Given the description of an element on the screen output the (x, y) to click on. 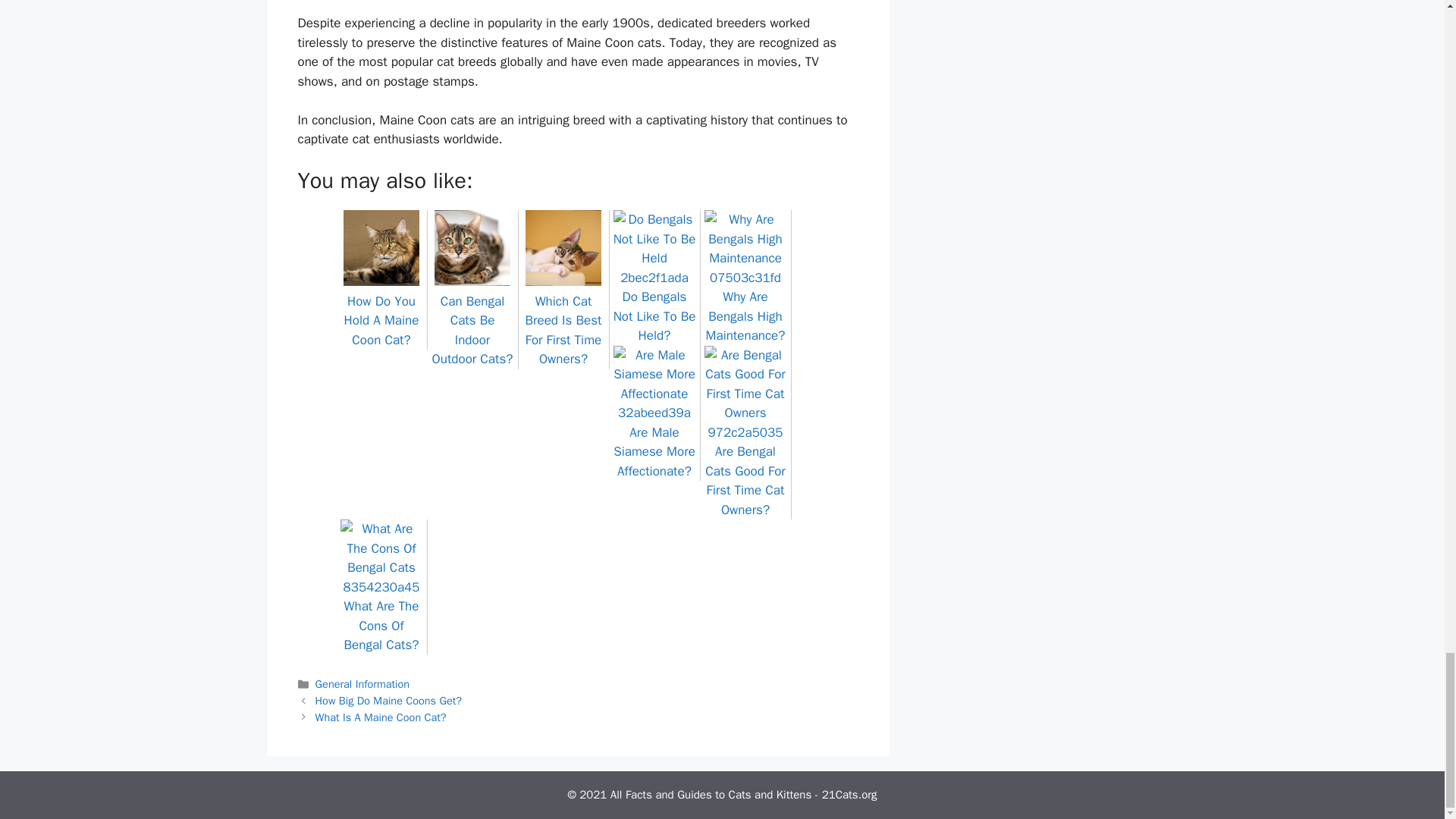
Do Bengals Not Like To Be Held? 4 (653, 248)
Are Male Siamese More Affectionate? 6 (653, 384)
Which Cat Breed Is Best For First Time Owners? 3 (563, 247)
Why Are Bengals High Maintenance? 5 (744, 248)
Why Are Bengals High Maintenance? (744, 306)
What Are The Cons Of Bengal Cats? 8 (380, 558)
Are Male Siamese More Affectionate? (653, 441)
How Do You Hold A Maine Coon Cat? 1 (381, 247)
Can Bengal Cats Be Indoor Outdoor Cats? 2 (472, 247)
How Big Do Maine Coons Get? (388, 700)
